Given the description of an element on the screen output the (x, y) to click on. 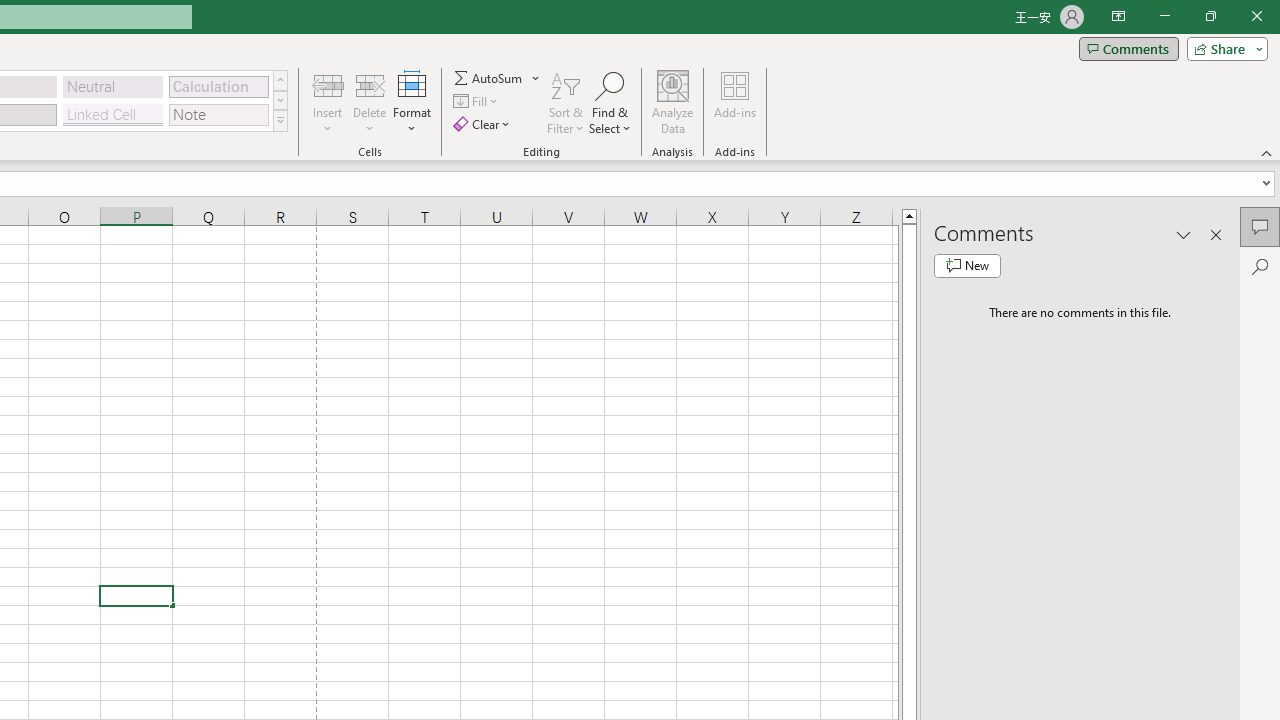
Note (218, 114)
Class: NetUIImage (280, 120)
Line up (909, 215)
Cell Styles (280, 120)
AutoSum (497, 78)
Share (1223, 48)
Sum (489, 78)
Find & Select (610, 102)
Format (411, 102)
Row up (280, 79)
